Given the description of an element on the screen output the (x, y) to click on. 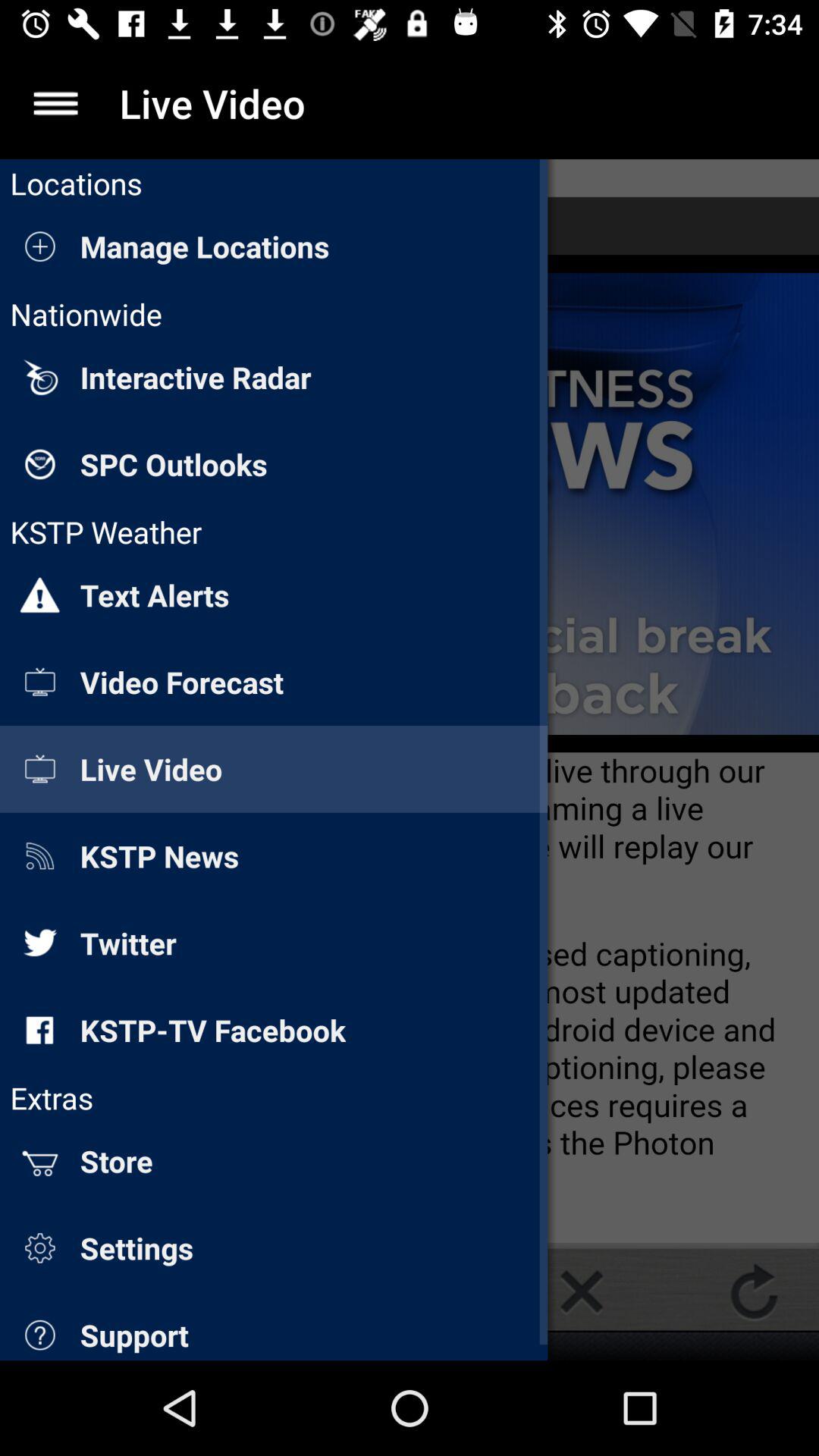
choose the item to the left of the live video item (55, 103)
